Given the description of an element on the screen output the (x, y) to click on. 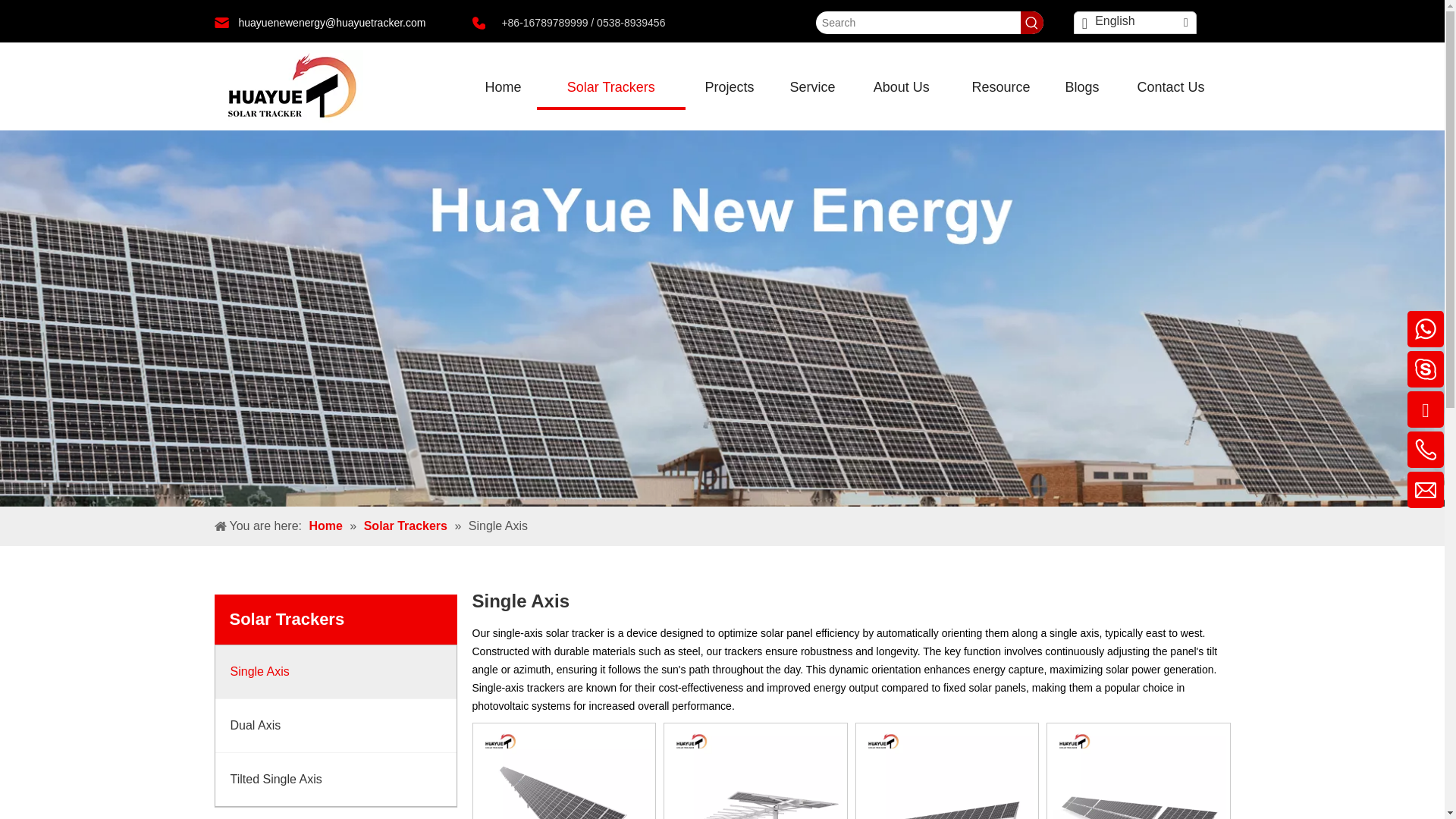
Solar Trackers (611, 86)
Dual Axis (336, 725)
Blogs (1081, 86)
Resource (1001, 86)
Single Axis (336, 671)
Home (502, 86)
Projects (729, 86)
HYP-2-120PV-144-IR-M-3LD Single Axis Solar Tracking System (755, 813)
About Us (901, 86)
HYP-2-120P-144-IR-M-3SD Single Solar Tracker For Solar Farm (1138, 813)
 Tilted Single Axis (336, 778)
Service (811, 86)
Contact Us (1170, 86)
